Given the description of an element on the screen output the (x, y) to click on. 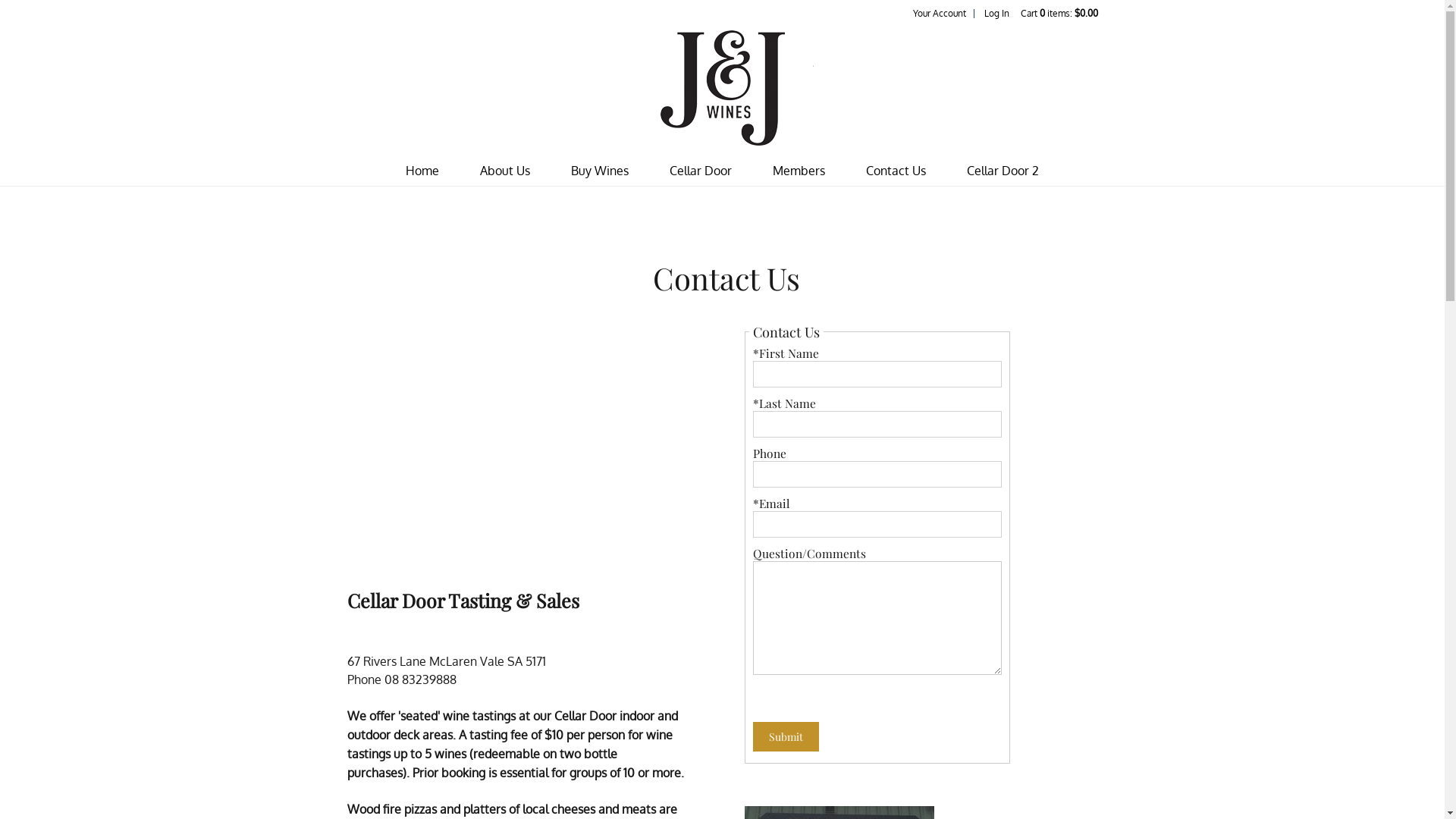
Your Account Element type: text (939, 12)
Contact Us Element type: text (895, 170)
Home Element type: text (422, 170)
Log In Element type: text (996, 12)
Cellar Door Element type: text (700, 170)
About Us Element type: text (505, 170)
Cart 0 items: $0.00 Element type: text (1059, 12)
Cellar Door 2 Element type: text (1002, 170)
Members Element type: text (798, 170)
Buy Wines Element type: text (599, 170)
Submit Element type: text (786, 736)
J&J Wines Pty Ltd Element type: text (721, 87)
